Given the description of an element on the screen output the (x, y) to click on. 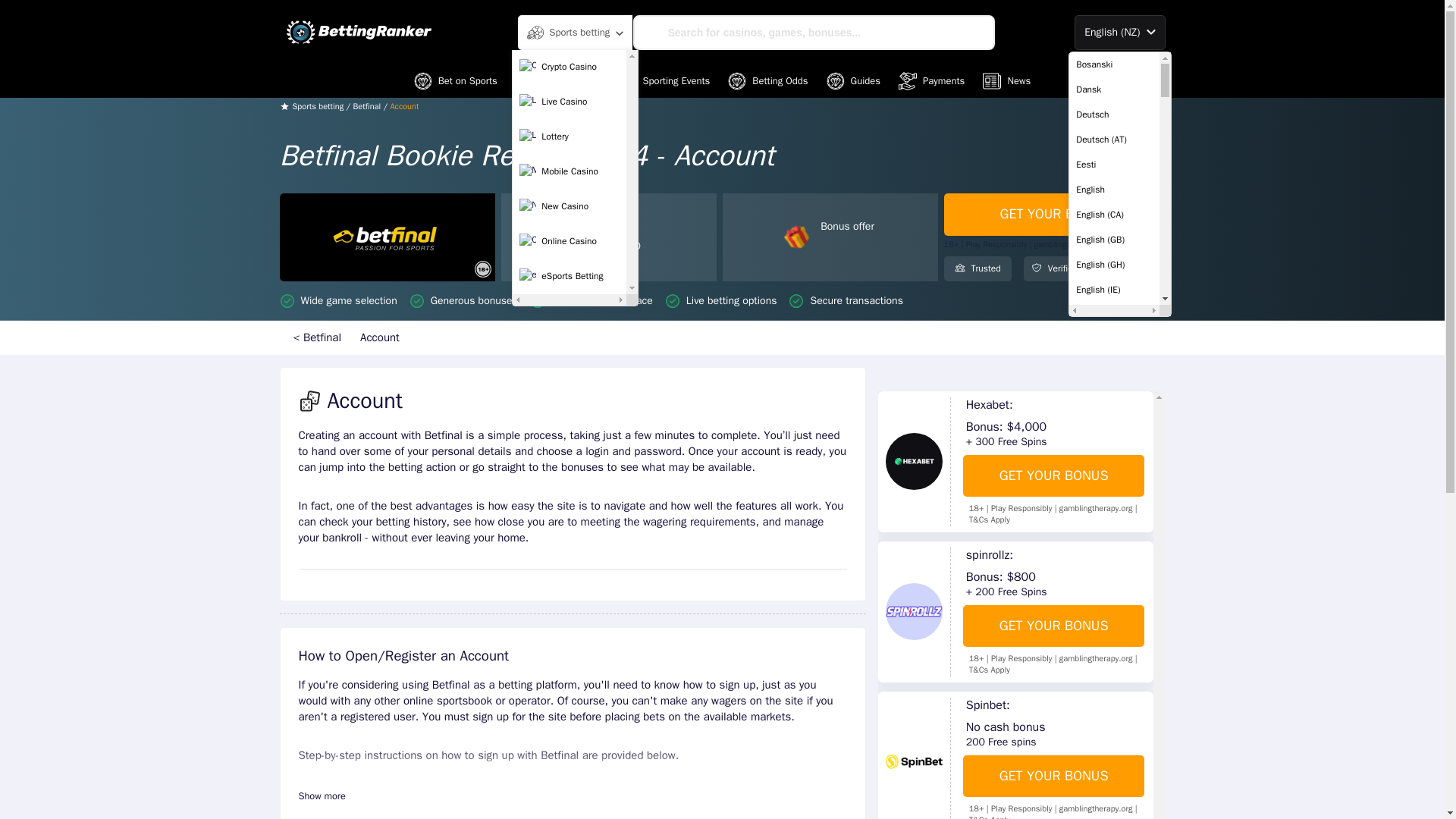
Deutsch (1113, 113)
Mobile Casino (569, 172)
eSports Betting (569, 276)
Hrvatski (1113, 810)
Crypto Casino (569, 67)
Account (381, 337)
Dansk (1113, 89)
English (1113, 189)
Bosanski (1113, 63)
New Casino (569, 206)
